Given the description of an element on the screen output the (x, y) to click on. 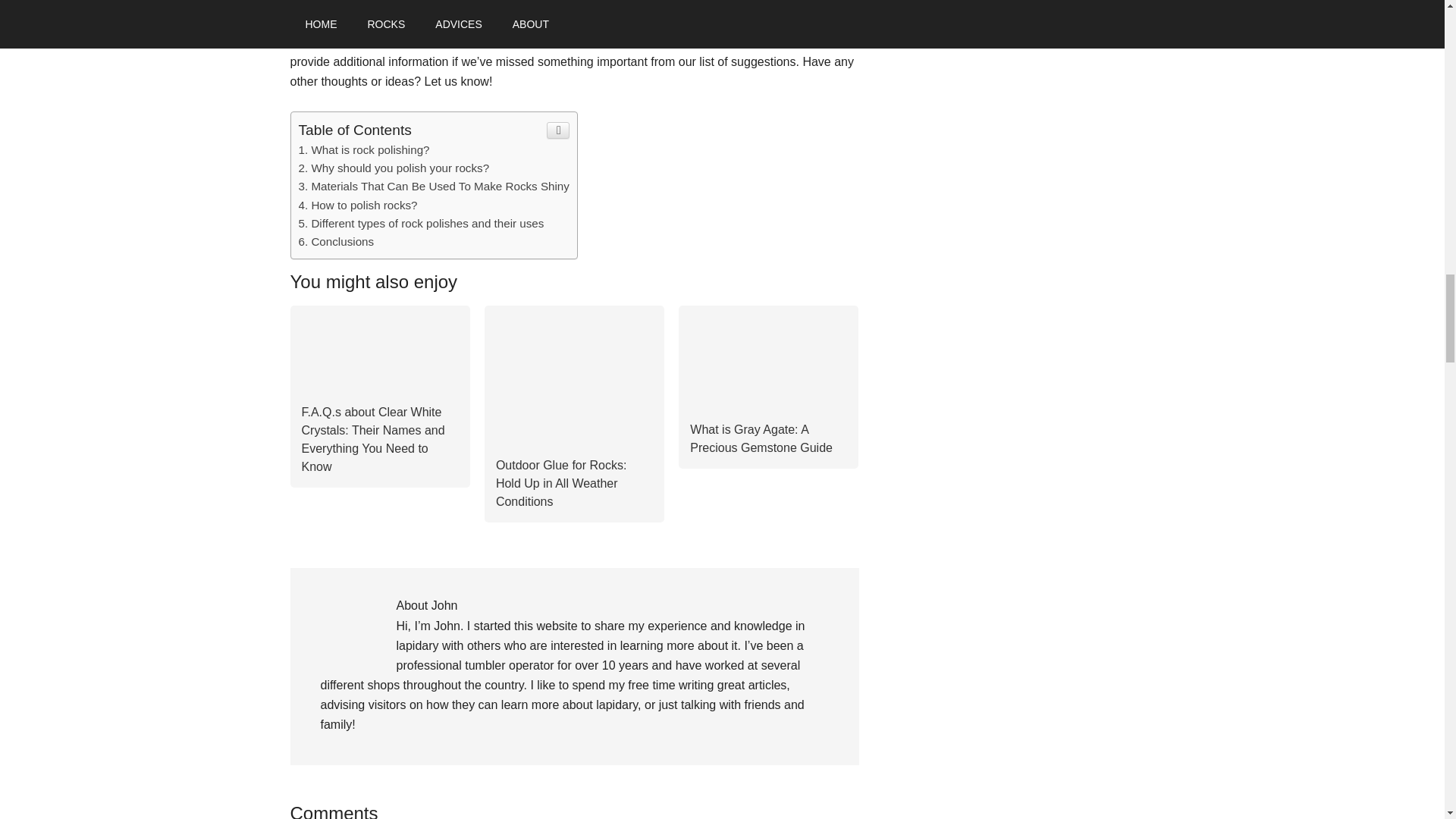
What is Gray Agate: A Precious Gemstone Guide (761, 438)
Different types of rock polishes and their uses (421, 223)
What is rock polishing? (363, 149)
Materials That Can Be Used To Make Rocks Shiny (433, 185)
How to polish rocks? (357, 205)
choose lapidary saw (753, 21)
Outdoor Glue for Rocks: Hold Up in All Weather Conditions (573, 435)
Different types of rock polishes and their uses (421, 223)
Conclusions (336, 241)
Why should you polish your rocks? (393, 167)
How to polish rocks? (357, 205)
Why should you polish your rocks? (393, 167)
What is rock polishing? (363, 149)
